Given the description of an element on the screen output the (x, y) to click on. 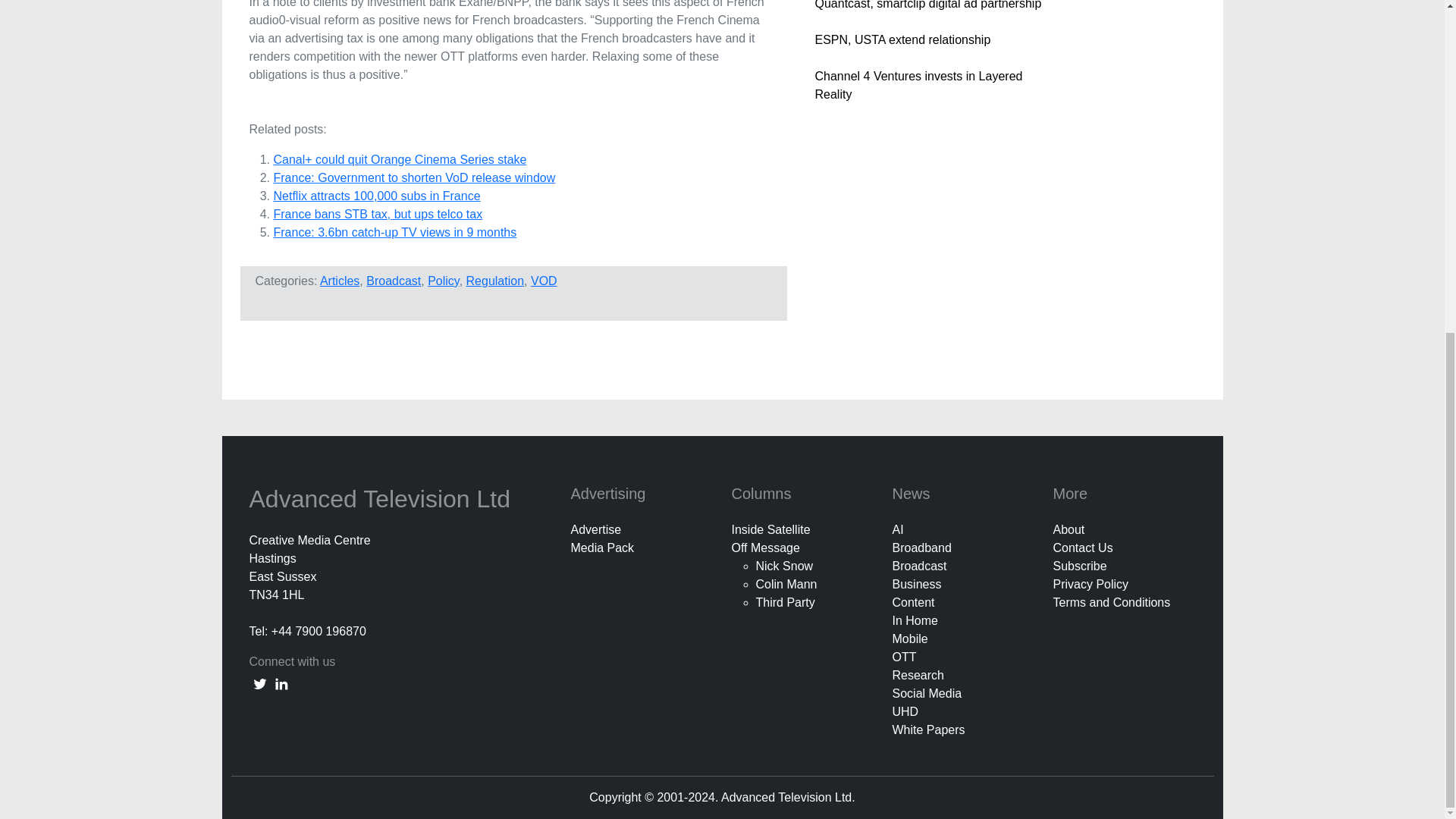
France: Government to shorten VoD release window (413, 177)
Channel 4 Ventures invests in Layered Reality (917, 84)
Regulation (494, 280)
Quantcast, smartclip digital ad partnership (927, 4)
Netflix attracts 100,000 subs in France (376, 195)
France: 3.6bn catch-up TV views in 9 months (394, 232)
France: 3.6bn catch-up TV views in 9 months (394, 232)
Policy (444, 280)
Broadcast (393, 280)
VOD (544, 280)
